Given the description of an element on the screen output the (x, y) to click on. 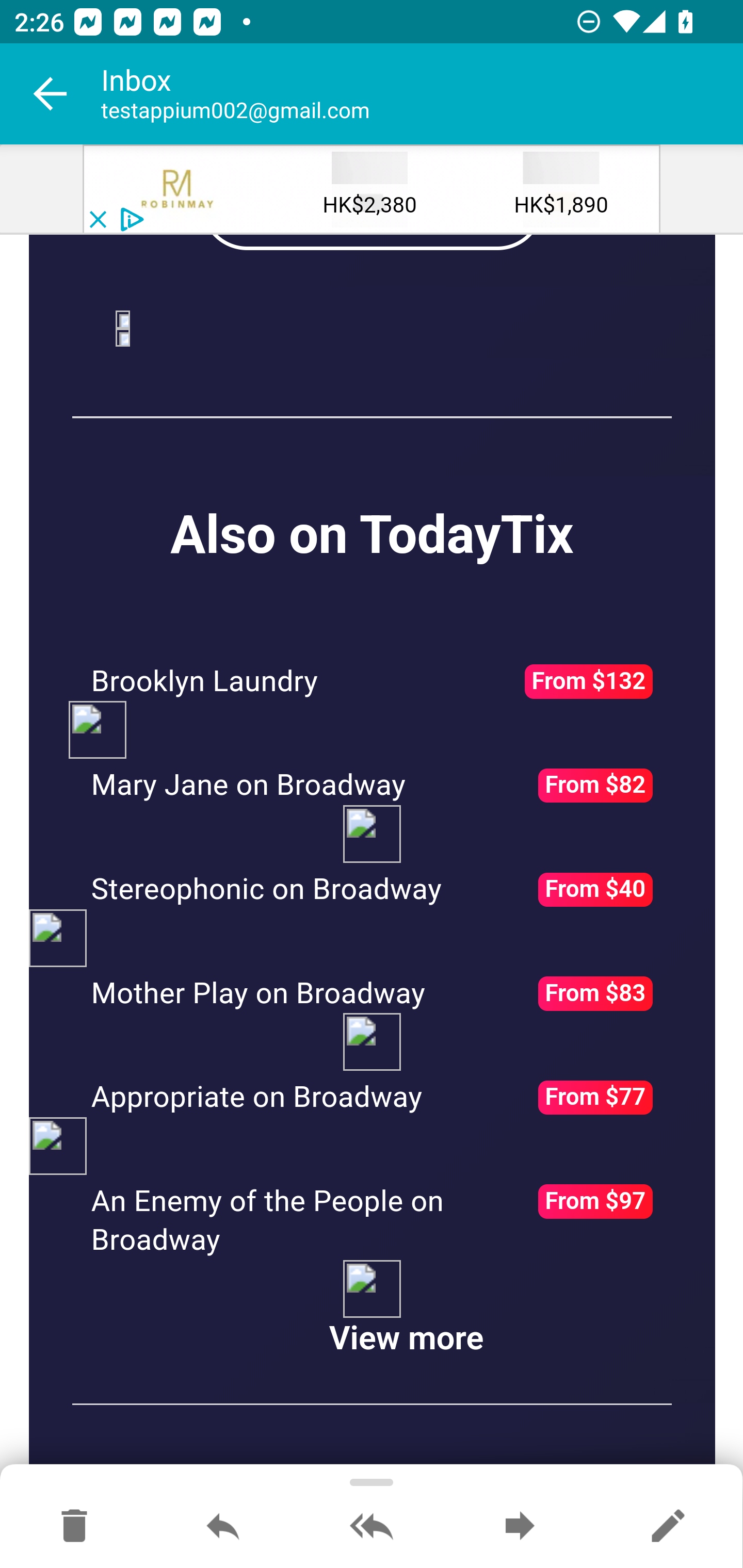
Navigate up (50, 93)
Inbox testappium002@gmail.com (422, 93)
   (178, 189)
 HK$2,380       HK$2,380 (370, 190)
 HK$1,890       HK$1,890 (560, 190)
close_button (96, 220)
privacy_small (129, 220)
Brooklyn Laundry (204, 682)
Mary Jane on Broadway (248, 786)
Stereophonic on Broadway (266, 891)
Mother Play on Broadway (258, 994)
Appropriate on Broadway (257, 1098)
An Enemy of the People on Broadway (267, 1221)
View more (405, 1341)
Move to Deleted (74, 1527)
Reply (222, 1527)
Reply all (371, 1527)
Forward (519, 1527)
Reply as new (667, 1527)
